Given the description of an element on the screen output the (x, y) to click on. 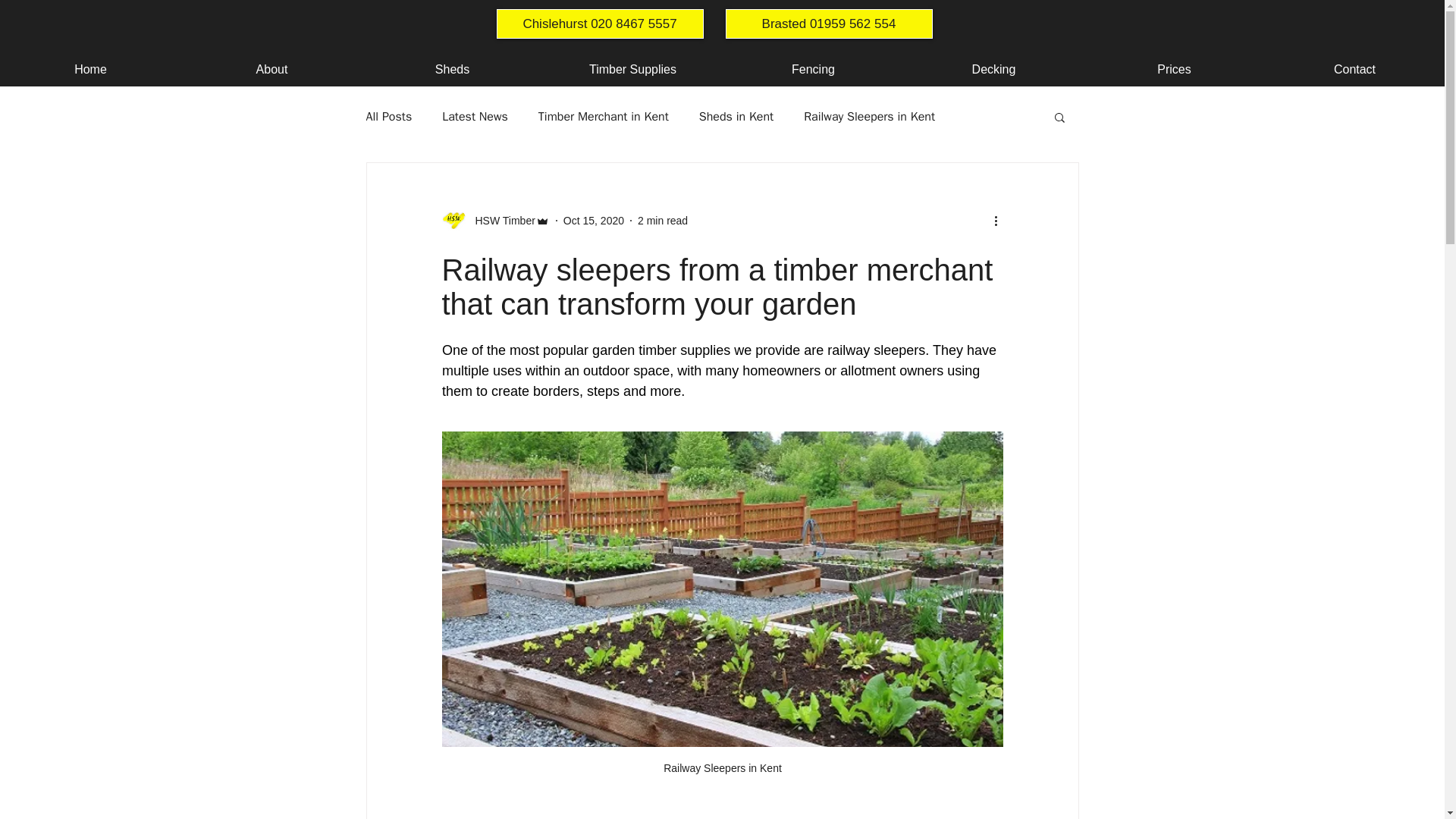
Timber Supplies (631, 69)
HSW Timber (499, 220)
2 min read (662, 219)
About (270, 69)
Brasted 01959 562 554 (828, 23)
Chislehurst 020 8467 5557 (599, 23)
Home (90, 69)
Sheds (451, 69)
Oct 15, 2020 (593, 219)
Fencing (812, 69)
